Given the description of an element on the screen output the (x, y) to click on. 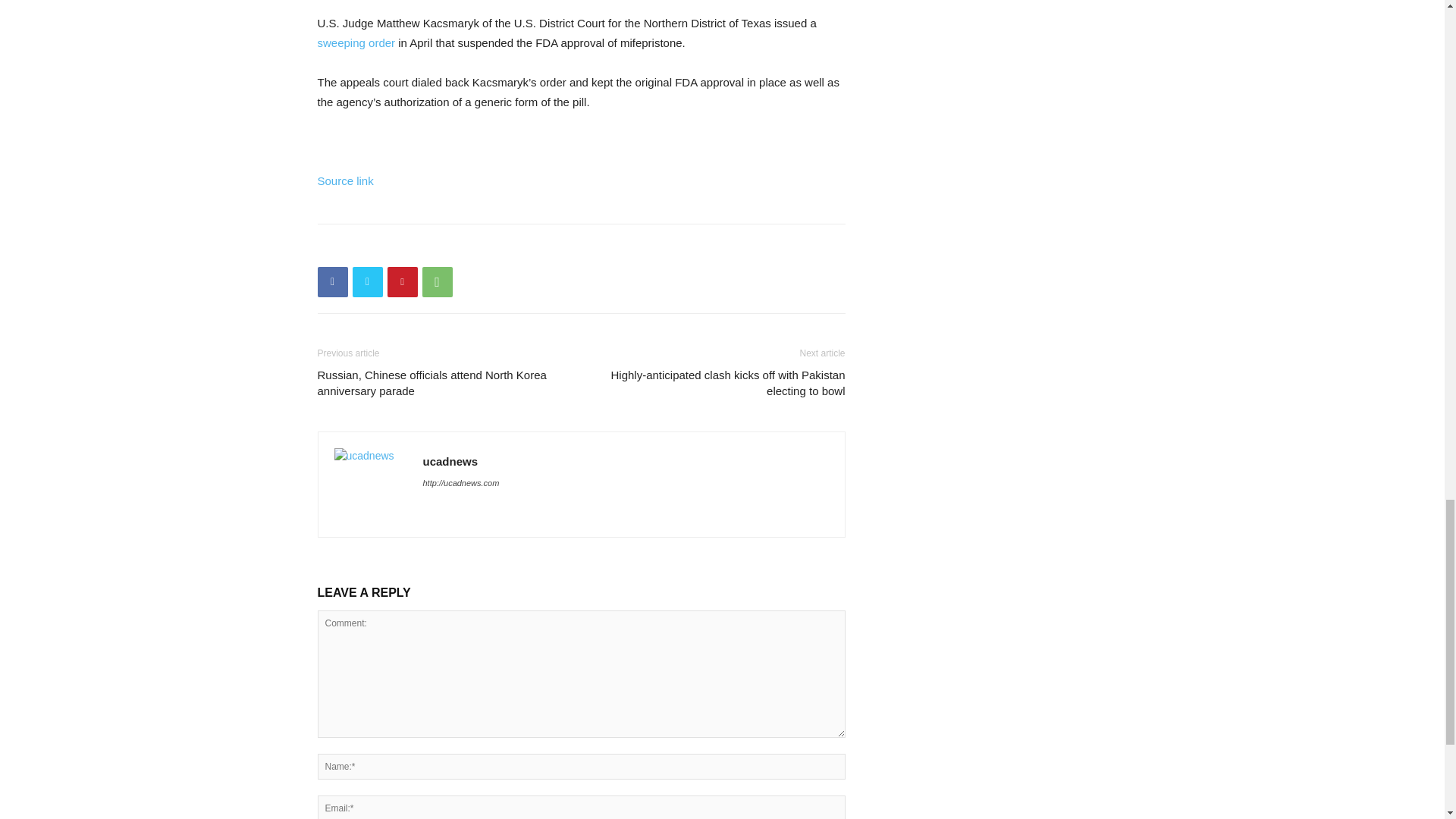
Facebook (332, 281)
WhatsApp (436, 281)
Twitter (366, 281)
bottomFacebookLike (430, 247)
Pinterest (401, 281)
